Given the description of an element on the screen output the (x, y) to click on. 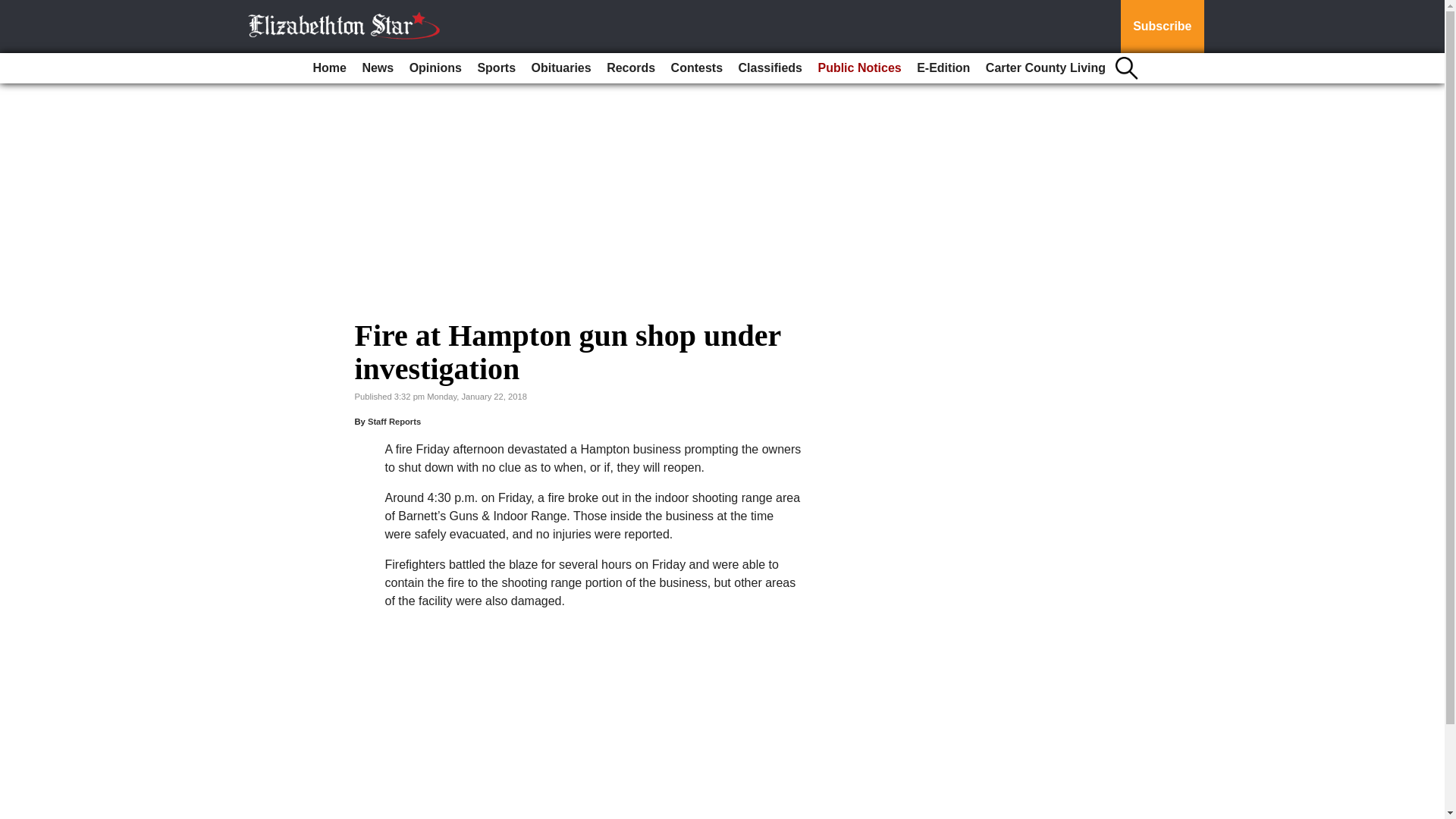
News (376, 68)
Subscribe (1162, 26)
Classifieds (770, 68)
Records (630, 68)
Go (13, 9)
Sports (495, 68)
Home (328, 68)
E-Edition (943, 68)
Opinions (435, 68)
Carter County Living (1045, 68)
